Given the description of an element on the screen output the (x, y) to click on. 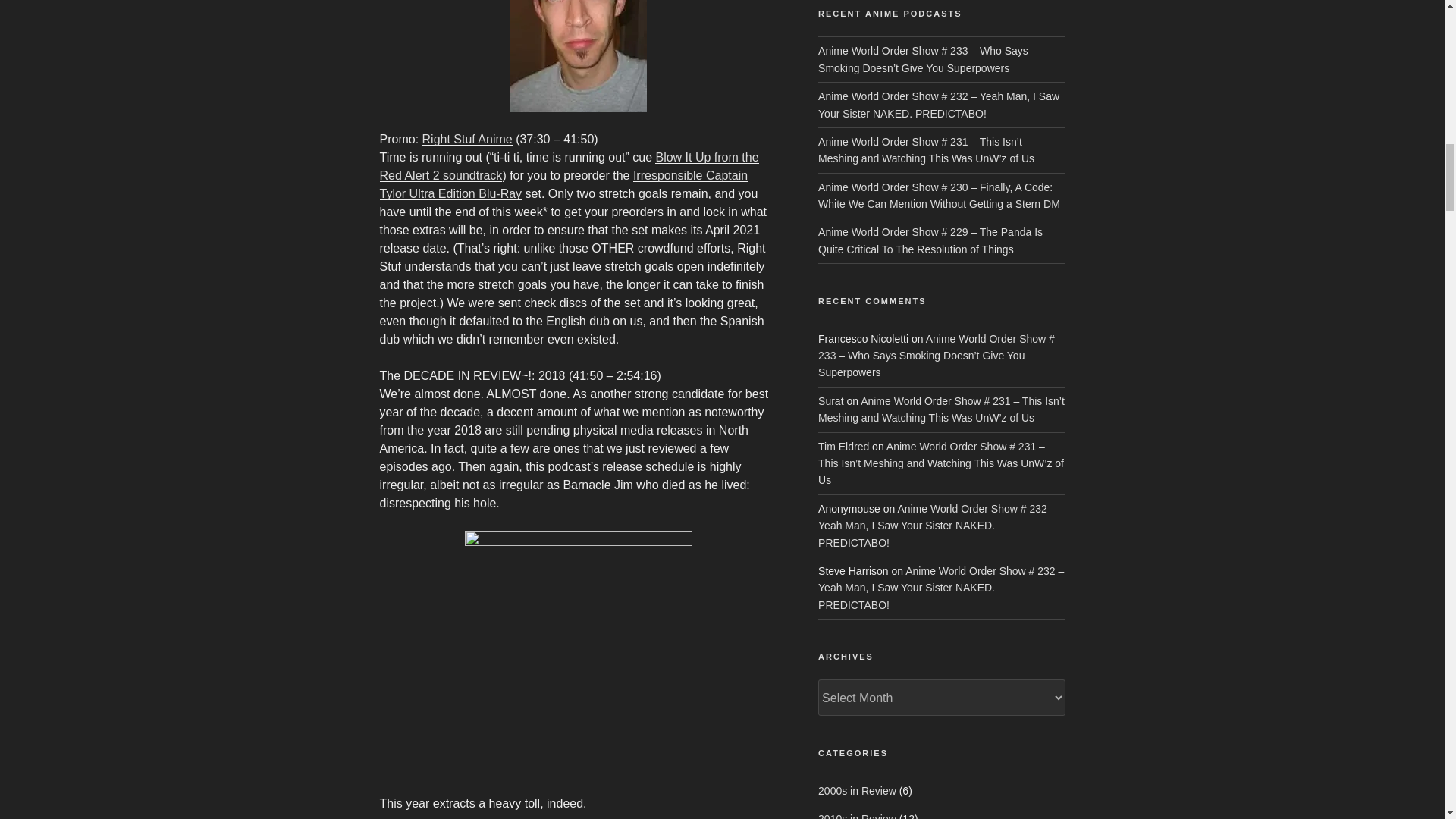
Irresponsible Captain Tylor Ultra Edition Blu-Ray (563, 183)
Blow It Up from the Red Alert 2 soundtrack (568, 165)
Right Stuf Anime (467, 138)
